Given the description of an element on the screen output the (x, y) to click on. 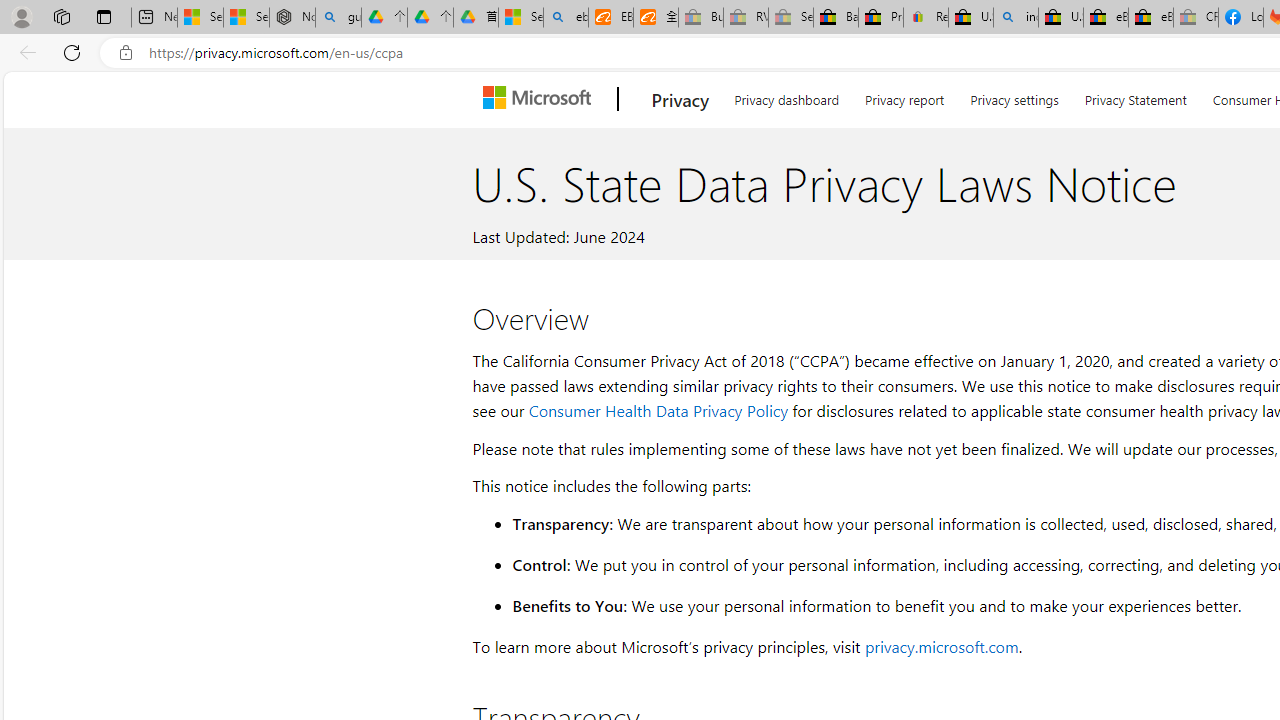
Sell worldwide with eBay - Sleeping (790, 17)
Press Room - eBay Inc. (880, 17)
Buy Auto Parts & Accessories | eBay - Sleeping (700, 17)
Privacy report (904, 96)
Privacy dashboard (786, 96)
eBay Inc. Reports Third Quarter 2023 Results (1150, 17)
Privacy settings (1014, 96)
guge yunpan - Search (338, 17)
Privacy (680, 99)
Privacy Statement (1135, 96)
Privacy dashboard (786, 96)
